Given the description of an element on the screen output the (x, y) to click on. 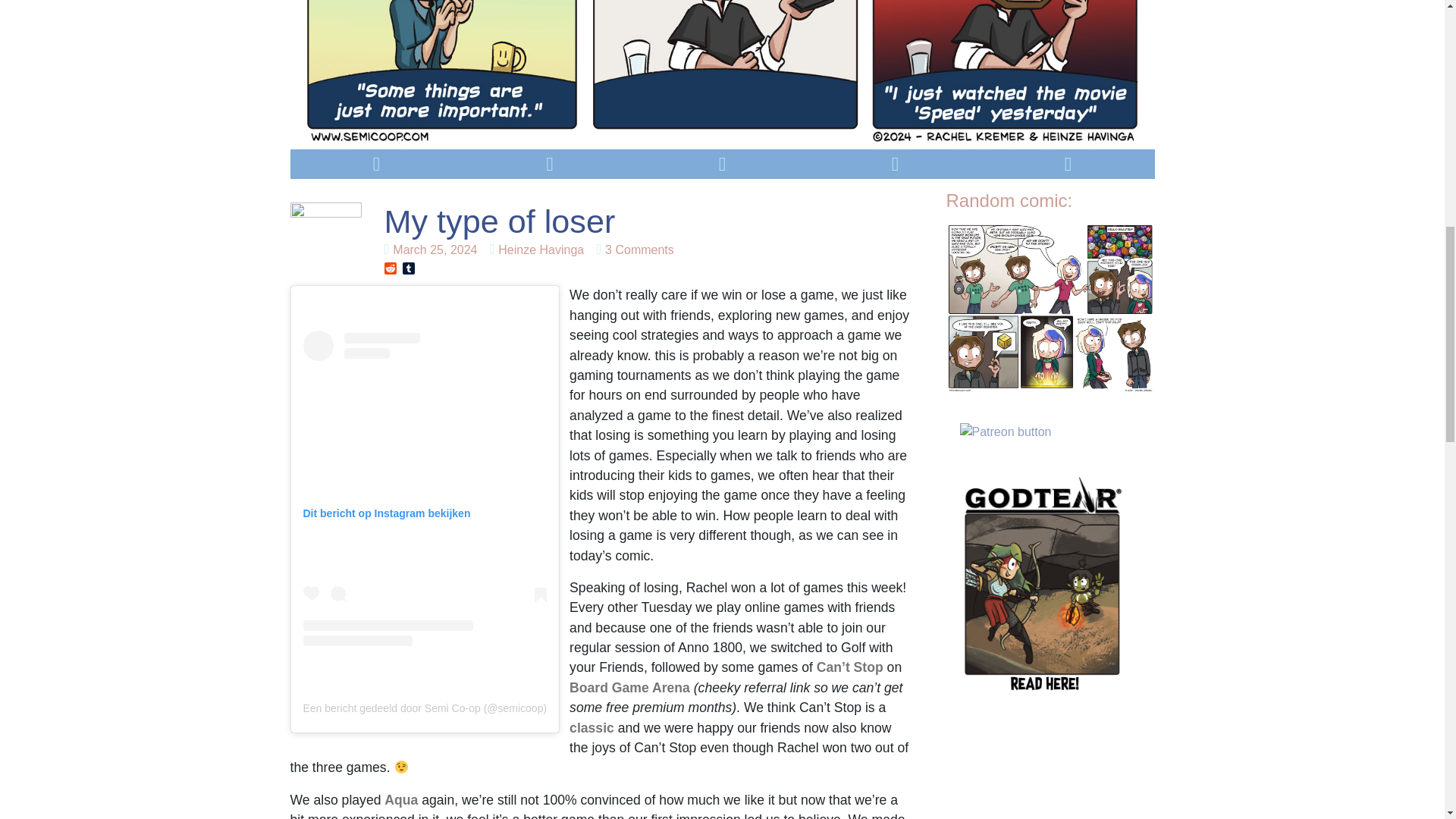
Reddit (391, 269)
Reddit (391, 269)
Heinze Havinga (634, 249)
Board Game Arena (537, 249)
classic (430, 249)
Posts by Heinze Havinga (629, 687)
Aqua (591, 727)
Tumblr (537, 249)
